Given the description of an element on the screen output the (x, y) to click on. 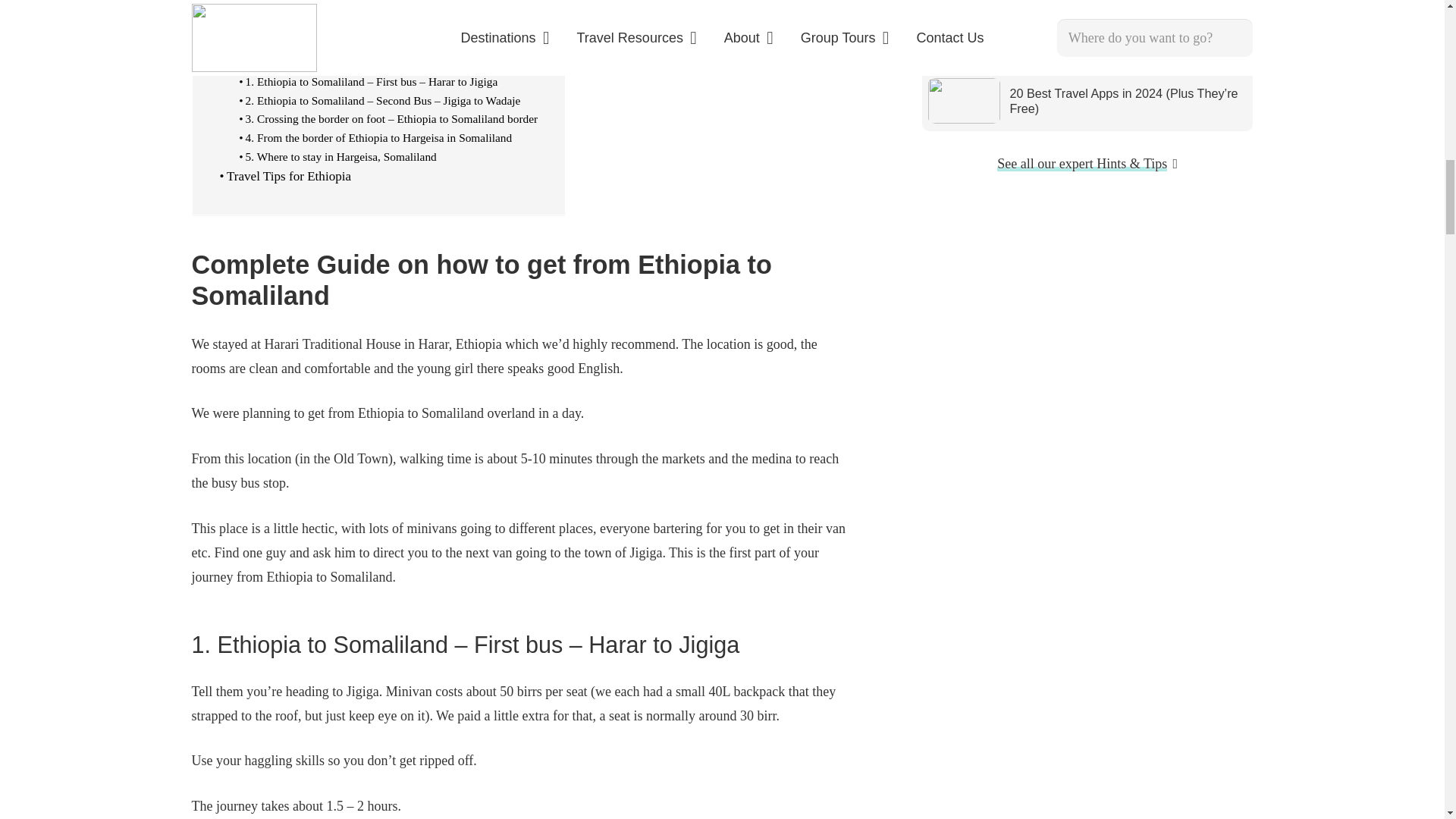
Complete Guide on how to get from Ethiopia to Somaliland (378, 62)
Travel Tips for Ethiopia (285, 176)
4. From the border of Ethiopia to Hargeisa in Somaliland (375, 138)
5. Where to stay in Hargeisa, Somaliland (337, 157)
